Given the description of an element on the screen output the (x, y) to click on. 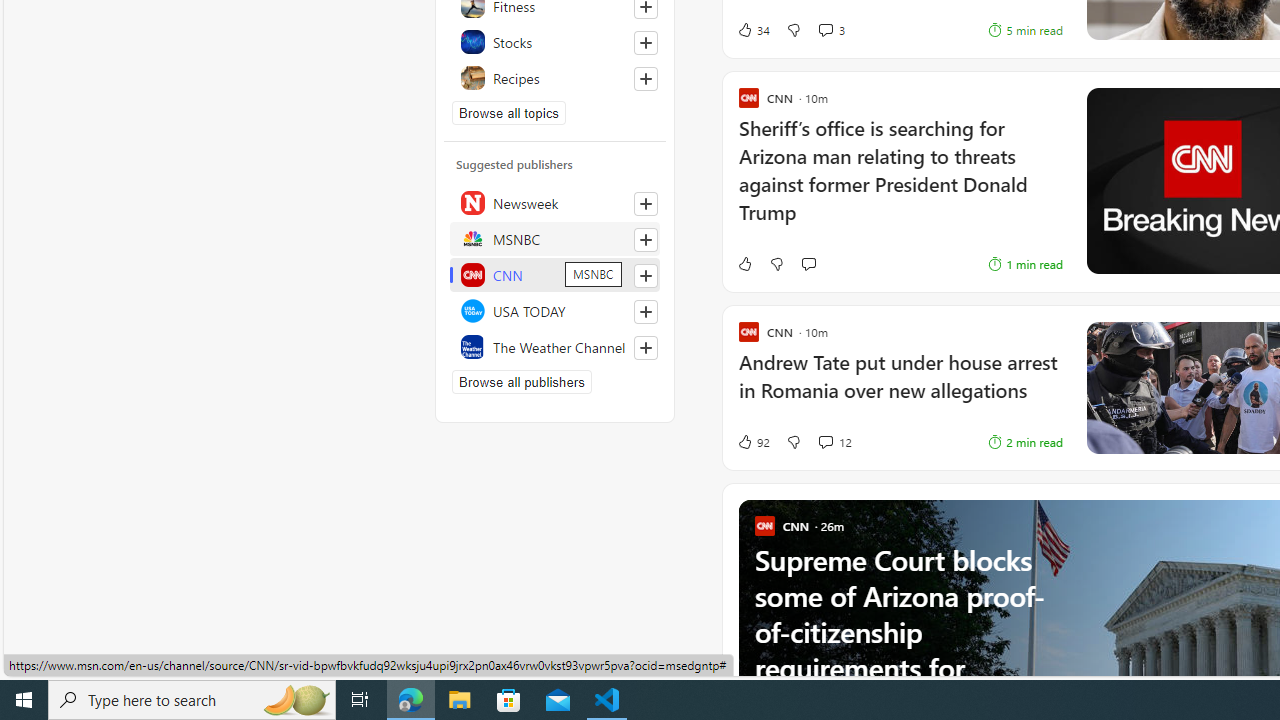
MSNBC (555, 238)
Follow this topic (645, 78)
Like (744, 264)
Browse all publishers (521, 381)
View comments 3 Comment (825, 30)
The Weather Channel (555, 346)
Follow this topic (645, 78)
92 Like (753, 442)
USA TODAY (555, 310)
View comments 3 Comment (830, 30)
Stocks (555, 42)
